Given the description of an element on the screen output the (x, y) to click on. 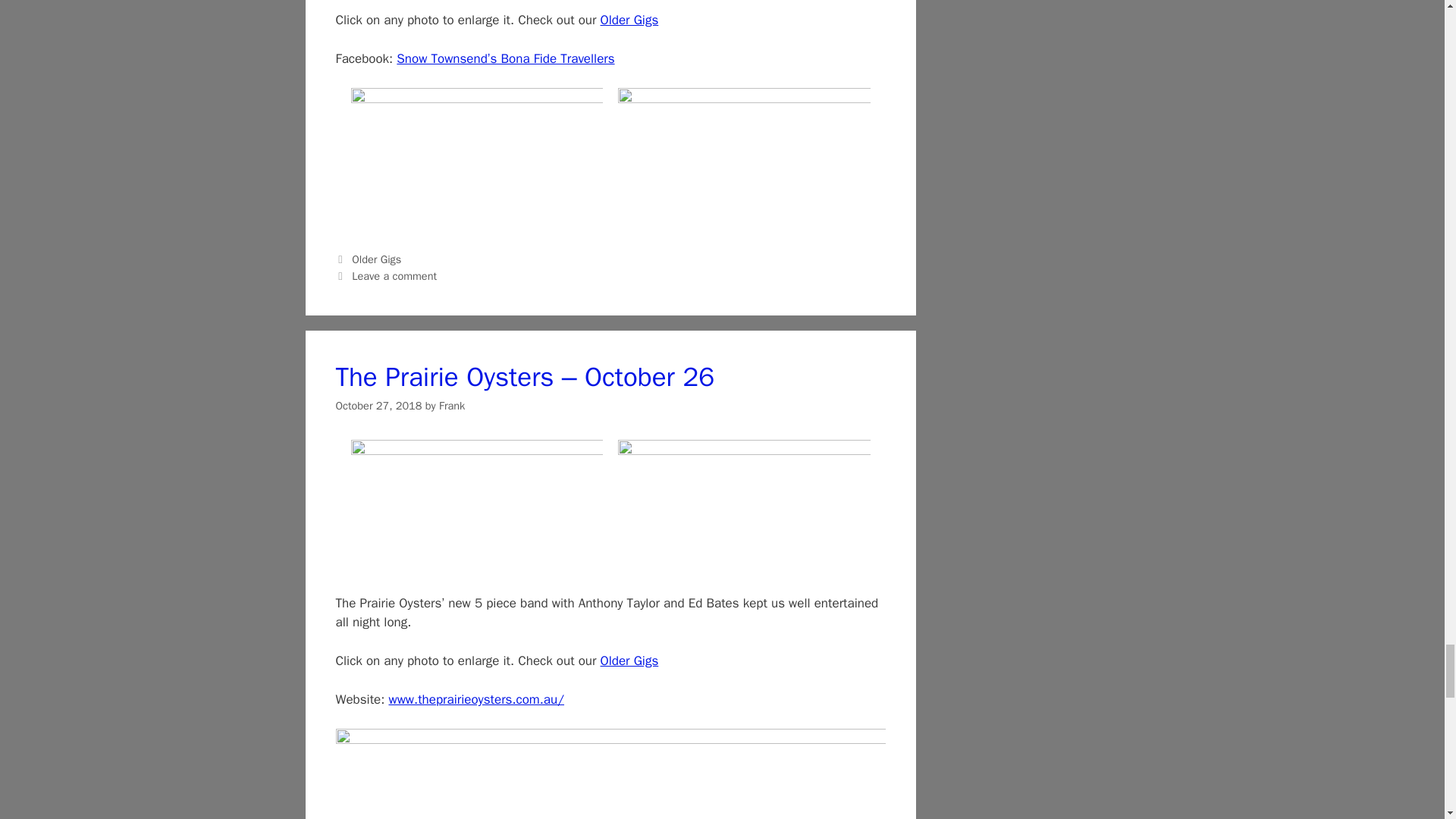
View all posts by Frank (451, 405)
